Given the description of an element on the screen output the (x, y) to click on. 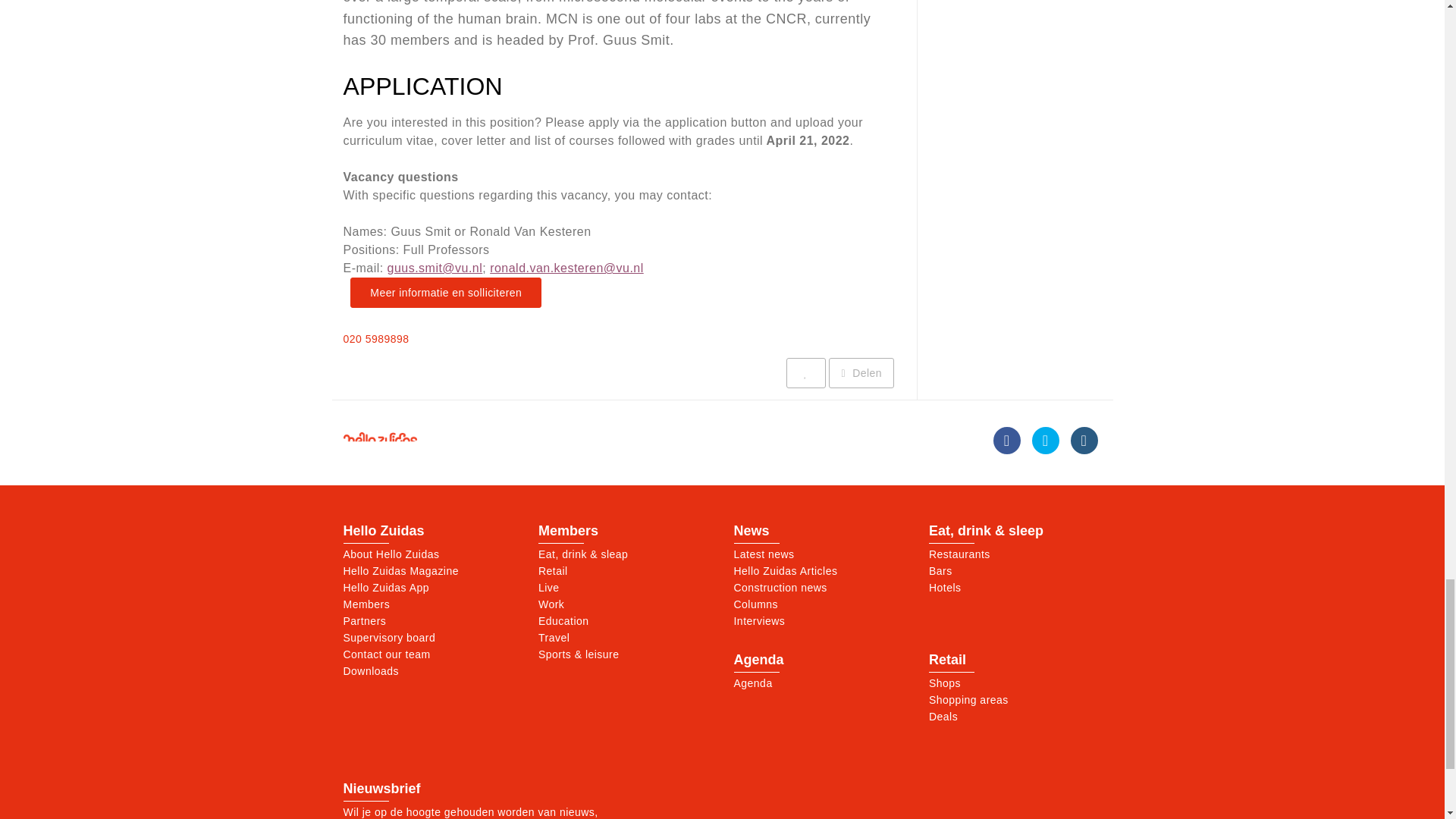
Twitter (1045, 440)
Instagram (1083, 440)
Facebook (1006, 440)
Volg deze locatie (805, 372)
